Given the description of an element on the screen output the (x, y) to click on. 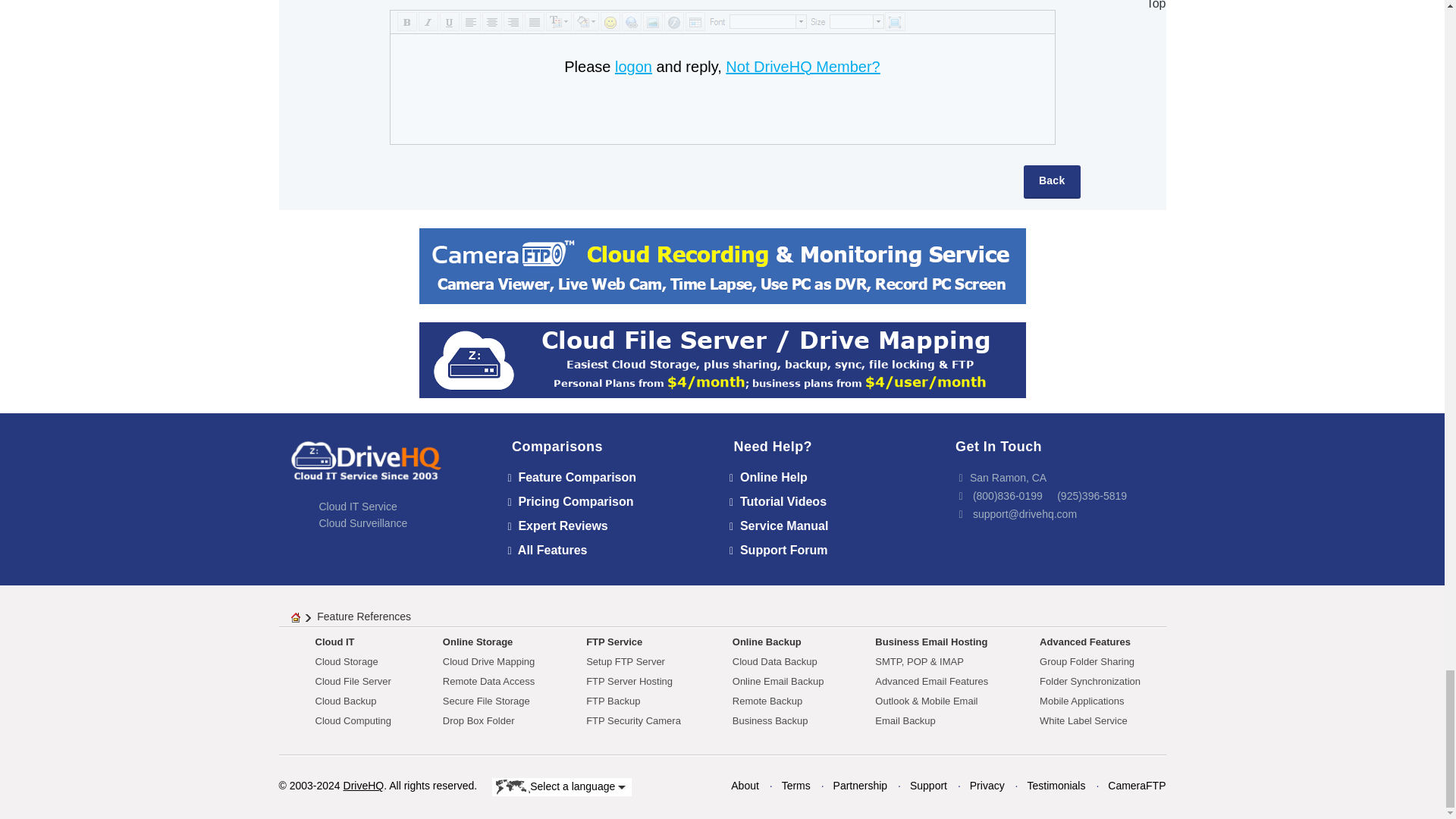
Back (1051, 182)
